Given the description of an element on the screen output the (x, y) to click on. 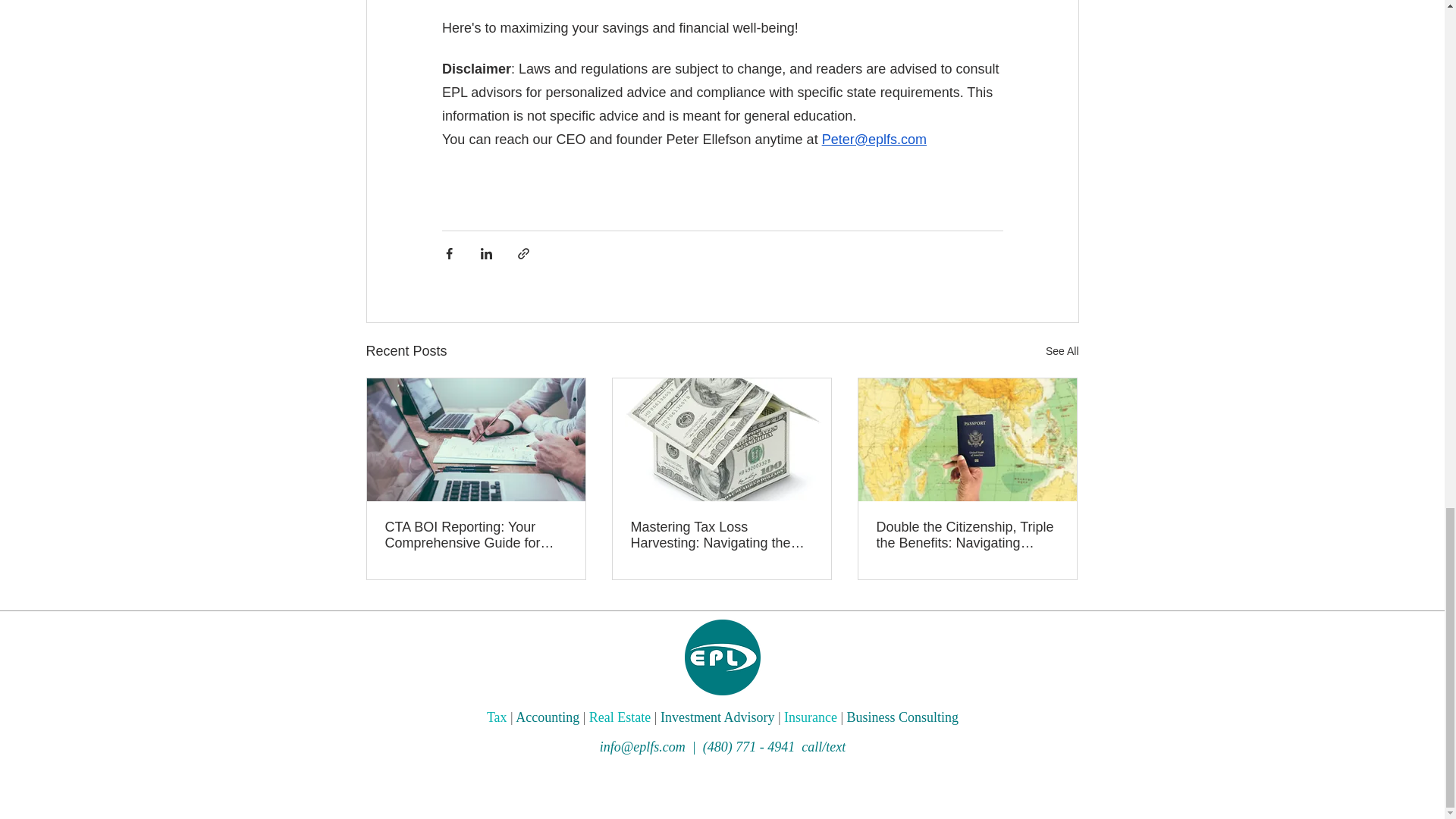
Insurance (810, 717)
Accounting (547, 717)
See All (1061, 351)
Business Consulting (903, 717)
Investment Advisory (717, 717)
Tax (496, 717)
Real Estate (619, 717)
